Given the description of an element on the screen output the (x, y) to click on. 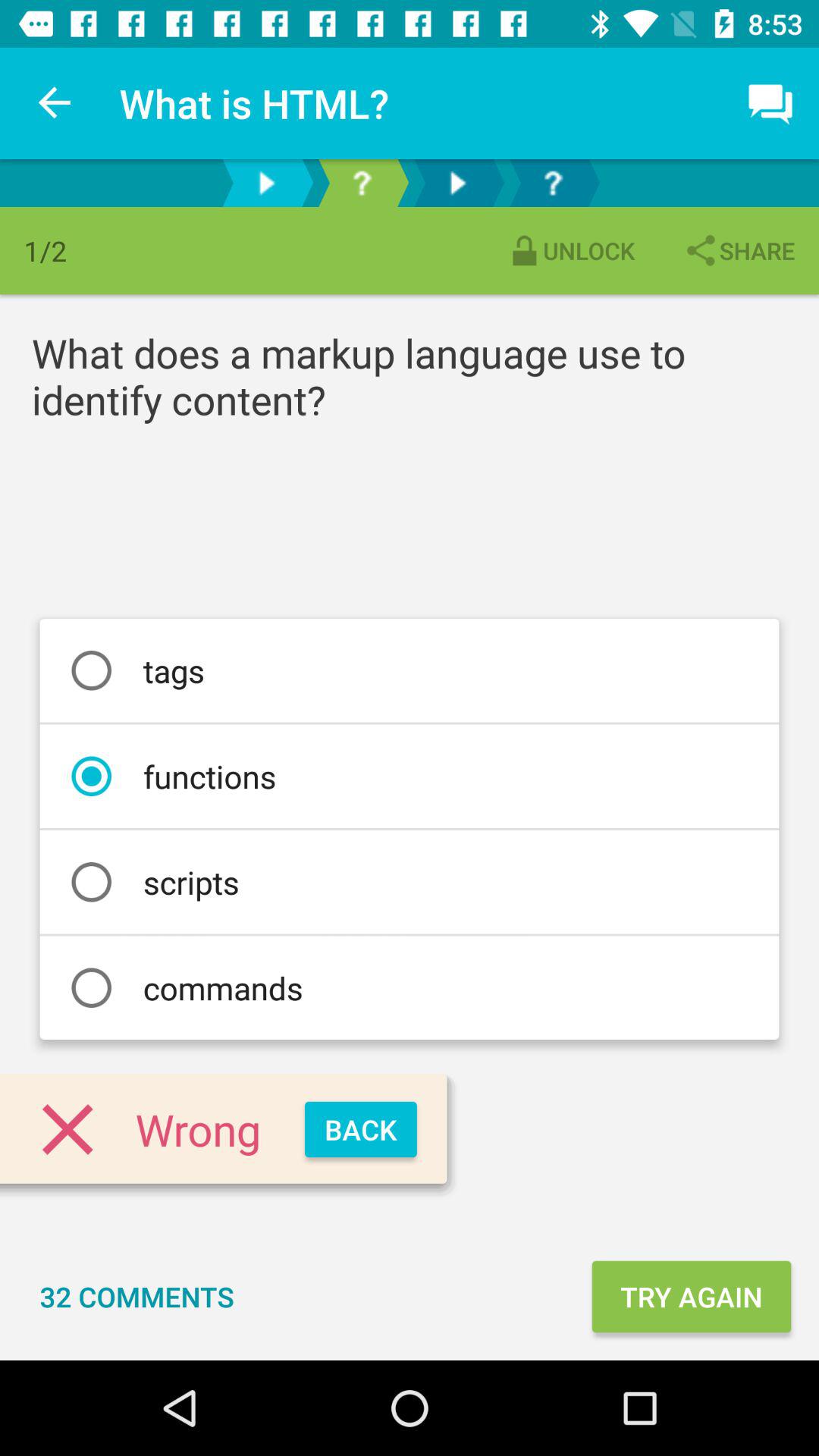
turn off icon to the left of try again (136, 1296)
